Given the description of an element on the screen output the (x, y) to click on. 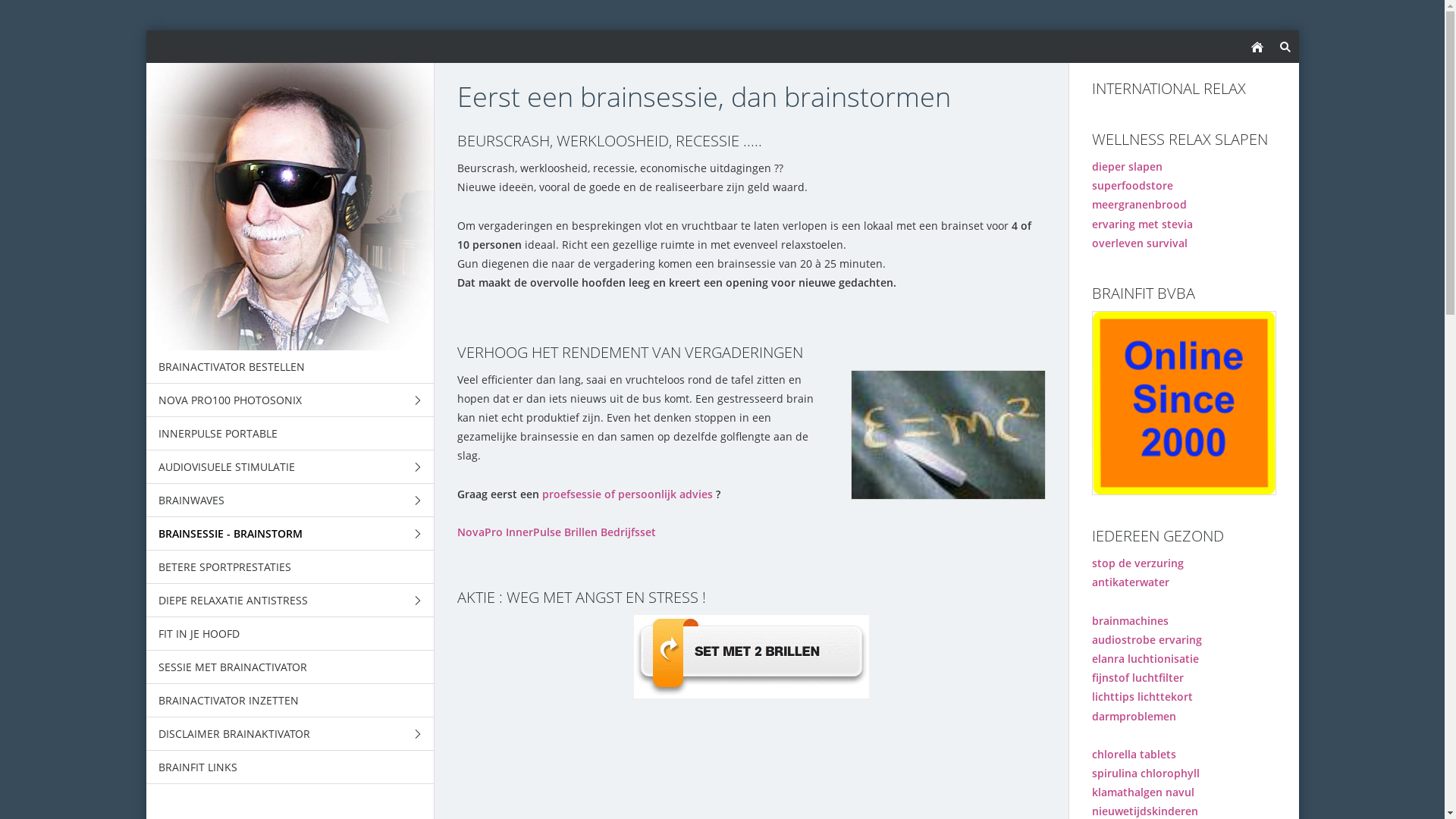
BRAINSESSIE - BRAINSTORM Element type: text (289, 533)
DIEPE RELAXATIE ANTISTRESS Element type: text (289, 600)
superfoodstore Element type: text (1132, 185)
stop de verzuring Element type: text (1137, 562)
darmproblemen Element type: text (1134, 716)
Brillen Element type: text (580, 531)
ervaring met stevia Element type: text (1142, 223)
chlorella tablets Element type: text (1134, 753)
AUDIOVISUELE STIMULATIE Element type: text (289, 466)
lichttips lichttekort Element type: text (1142, 696)
brainmachines Element type: text (1130, 620)
overleven survival Element type: text (1139, 242)
NovaPro Element type: text (479, 531)
elanra luchtionisatie Element type: text (1145, 658)
BRAINWAVES Element type: text (289, 500)
NOVA PRO100 PHOTOSONIX Element type: text (289, 400)
antikaterwater Element type: text (1130, 581)
BRAINACTIVATOR INZETTEN Element type: text (289, 700)
SESSIE MET BRAINACTIVATOR Element type: text (289, 667)
Bedrijfsset Element type: text (627, 531)
dieper slapen Element type: text (1127, 166)
FIT IN JE HOOFD Element type: text (289, 633)
meergranenbrood Element type: text (1139, 204)
DISCLAIMER BRAINAKTIVATOR Element type: text (289, 733)
InnerPulse Element type: text (532, 531)
fijnstof luchtfilter Element type: text (1137, 677)
proefsessie of persoonlijk advies Element type: text (626, 493)
audiostrobe ervaring Element type: text (1146, 639)
BRAINACTIVATOR BESTELLEN Element type: text (289, 366)
INNERPULSE PORTABLE Element type: text (289, 433)
klamathalgen navul Element type: text (1143, 791)
nieuwetijdskinderen Element type: text (1145, 810)
BETERE SPORTPRESTATIES Element type: text (289, 566)
BRAINFIT LINKS Element type: text (289, 767)
spirulina chlorophyll Element type: text (1145, 772)
